Given the description of an element on the screen output the (x, y) to click on. 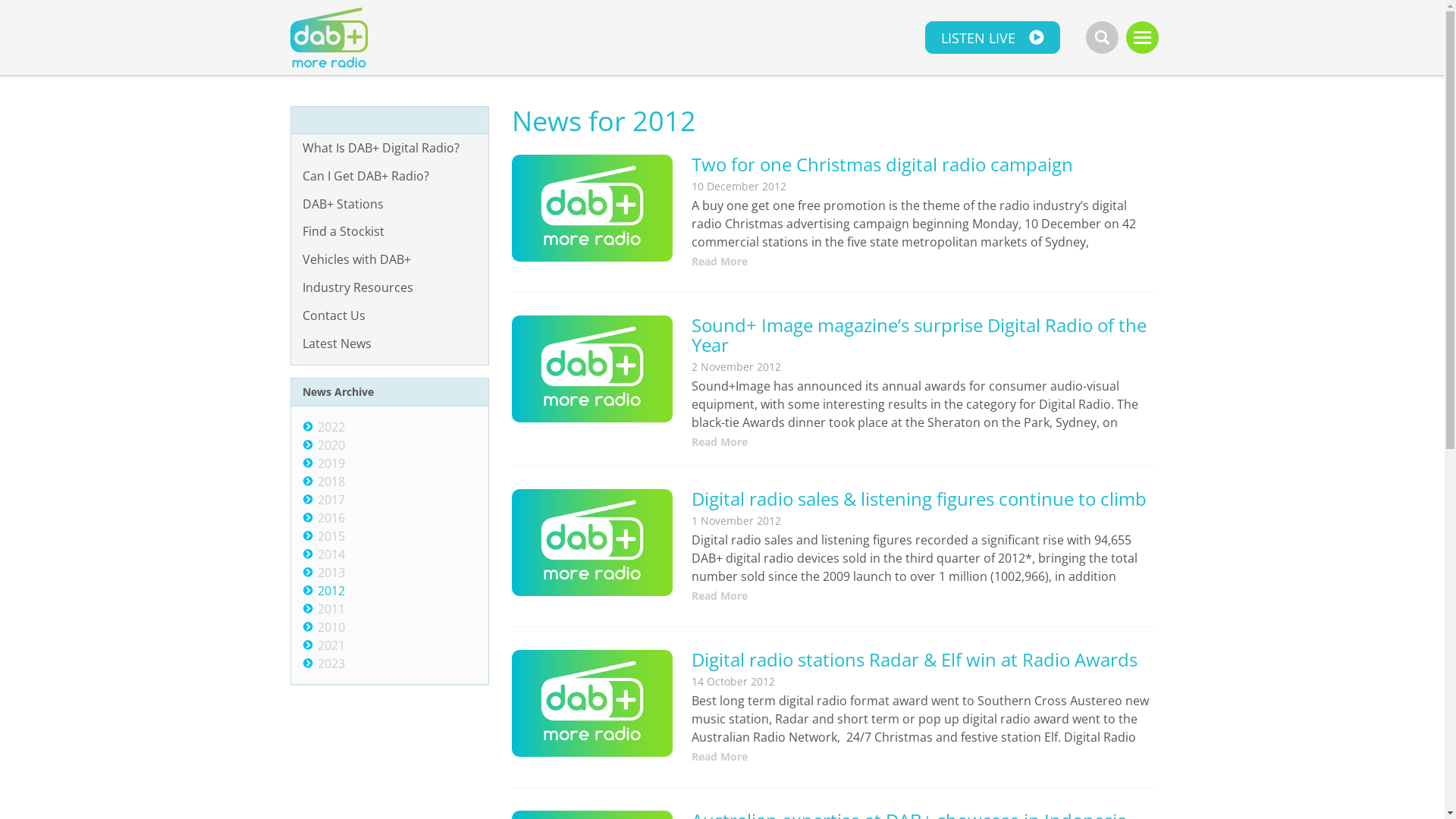
2015 Element type: text (330, 535)
What Is DAB+ Digital Radio? Element type: text (390, 148)
Contact Us Element type: text (390, 315)
Find a Stockist Element type: text (390, 231)
2011 Element type: text (330, 608)
Read More Element type: text (922, 595)
Read More Element type: text (922, 261)
Digital radio sales & listening figures continue to climb Element type: text (918, 498)
2023 Element type: text (330, 663)
2022 Element type: text (330, 426)
2010 Element type: text (330, 626)
DAB+ Stations Element type: text (390, 204)
Toggle navigation Element type: text (1141, 37)
LISTEN LIVE Element type: text (992, 37)
Industry Resources Element type: text (390, 287)
Read More Element type: text (922, 441)
2021 Element type: text (330, 645)
2018 Element type: text (330, 481)
2017 Element type: text (330, 499)
Two for one Christmas digital radio campaign Element type: text (882, 163)
Read More Element type: text (922, 756)
2019 Element type: text (330, 463)
2016 Element type: text (330, 517)
2014 Element type: text (330, 554)
Site Search Element type: text (1101, 37)
2020 Element type: text (330, 444)
Digital radio stations Radar & Elf win at Radio Awards Element type: text (914, 658)
Can I Get DAB+ Radio? Element type: text (390, 176)
Vehicles with DAB+ Element type: text (390, 259)
Latest News Element type: text (390, 343)
2013 Element type: text (330, 572)
2012 Element type: text (330, 590)
